Given the description of an element on the screen output the (x, y) to click on. 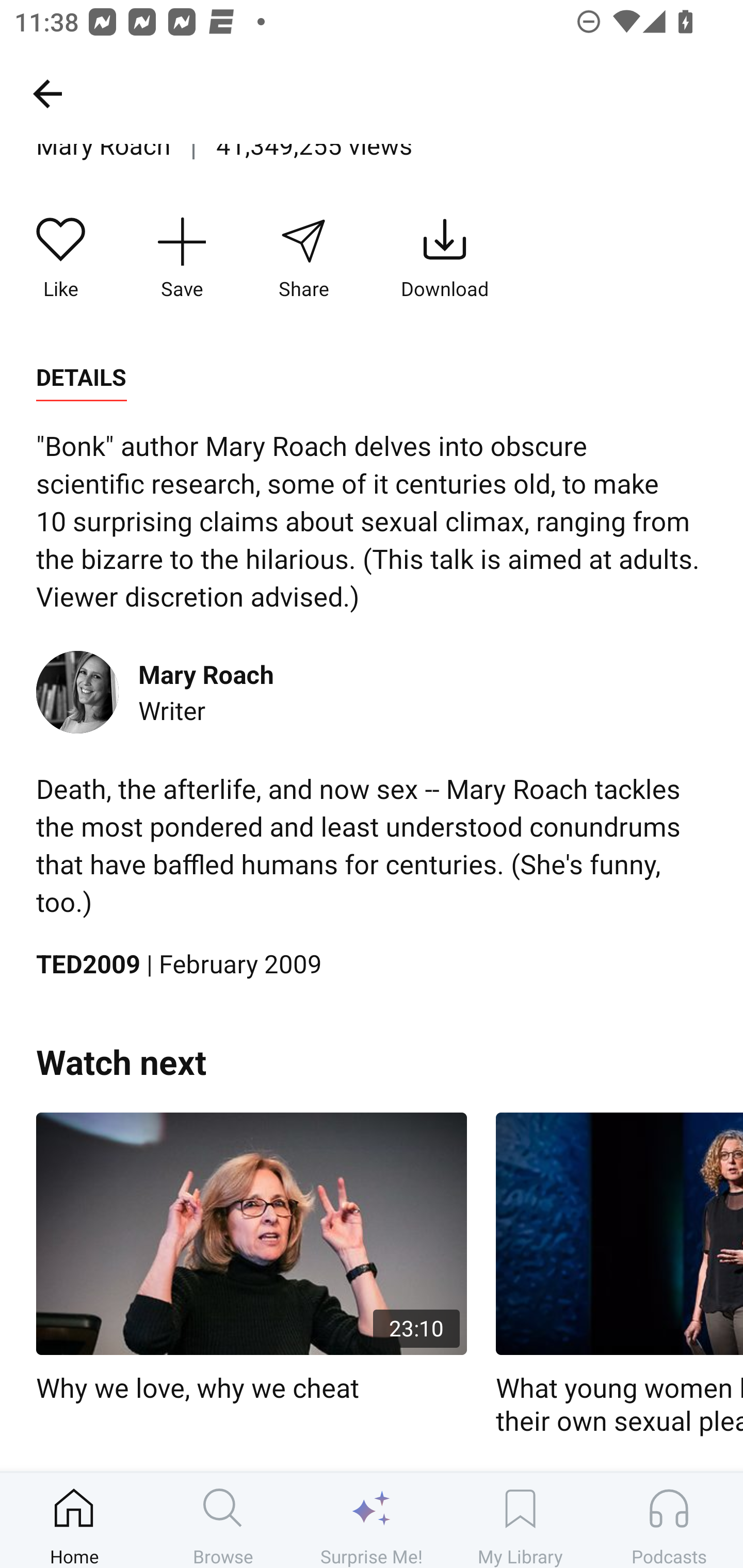
Home, back (47, 92)
Like (60, 258)
Save (181, 258)
Share (302, 258)
Download (444, 258)
DETAILS (80, 377)
23:10 Why we love, why we cheat (251, 1258)
Home (74, 1520)
Browse (222, 1520)
Surprise Me! (371, 1520)
My Library (519, 1520)
Podcasts (668, 1520)
